Given the description of an element on the screen output the (x, y) to click on. 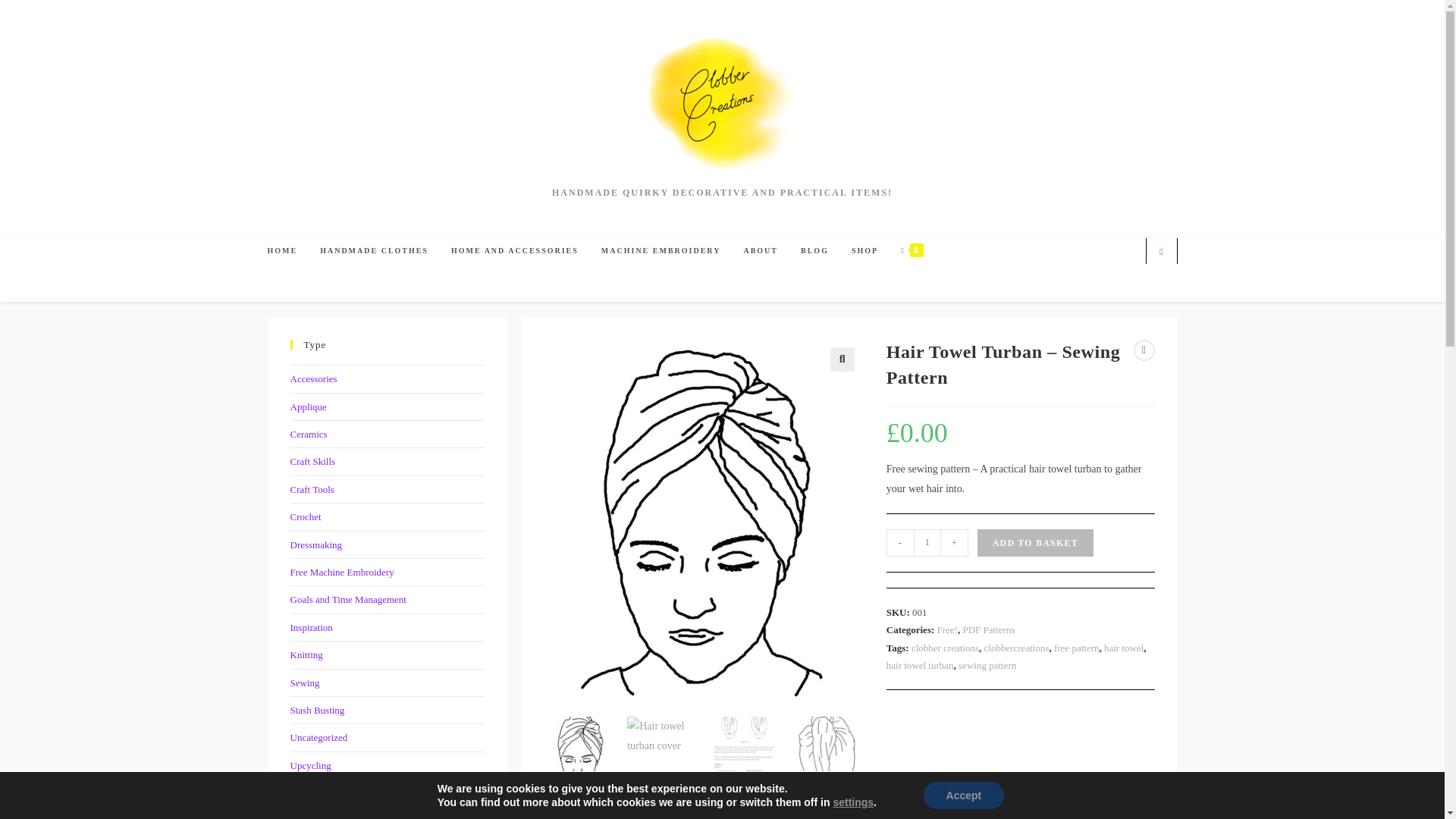
MACHINE EMBROIDERY (660, 250)
SHOP (864, 250)
ABOUT (760, 250)
HANDMADE CLOTHES (373, 250)
0 (911, 250)
HOME AND ACCESSORIES (514, 250)
BLOG (814, 250)
HOME (282, 250)
1 (927, 542)
